Given the description of an element on the screen output the (x, y) to click on. 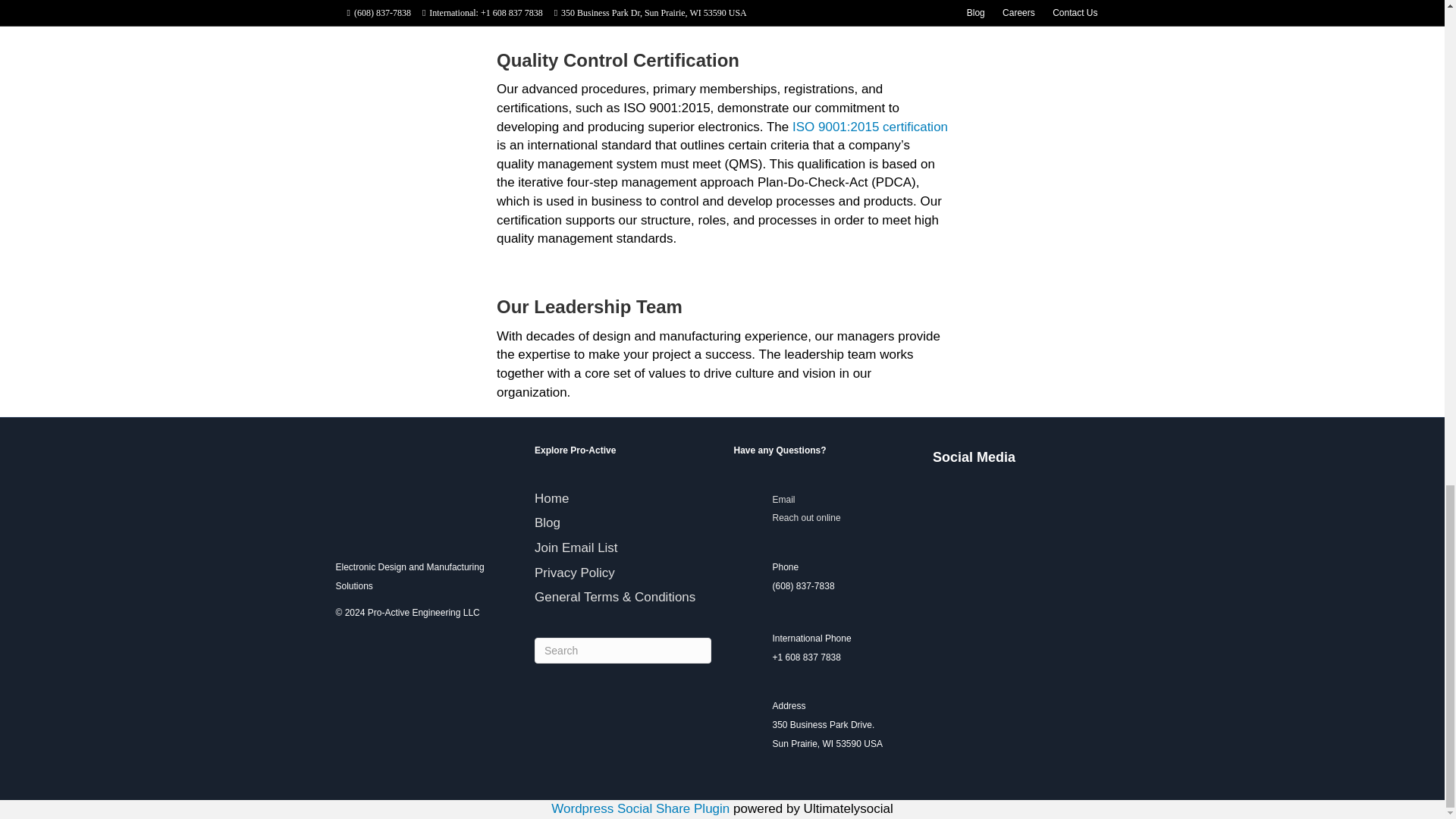
Instagram (1053, 500)
YouTube (1018, 500)
ISO-9001-2015-Certified (1203, 49)
28 year anniversary (239, 33)
Facebook (984, 500)
LinkedIn (951, 500)
Type and press Enter to search. (622, 650)
Pro-Active Engineering Team (1203, 257)
